Given the description of an element on the screen output the (x, y) to click on. 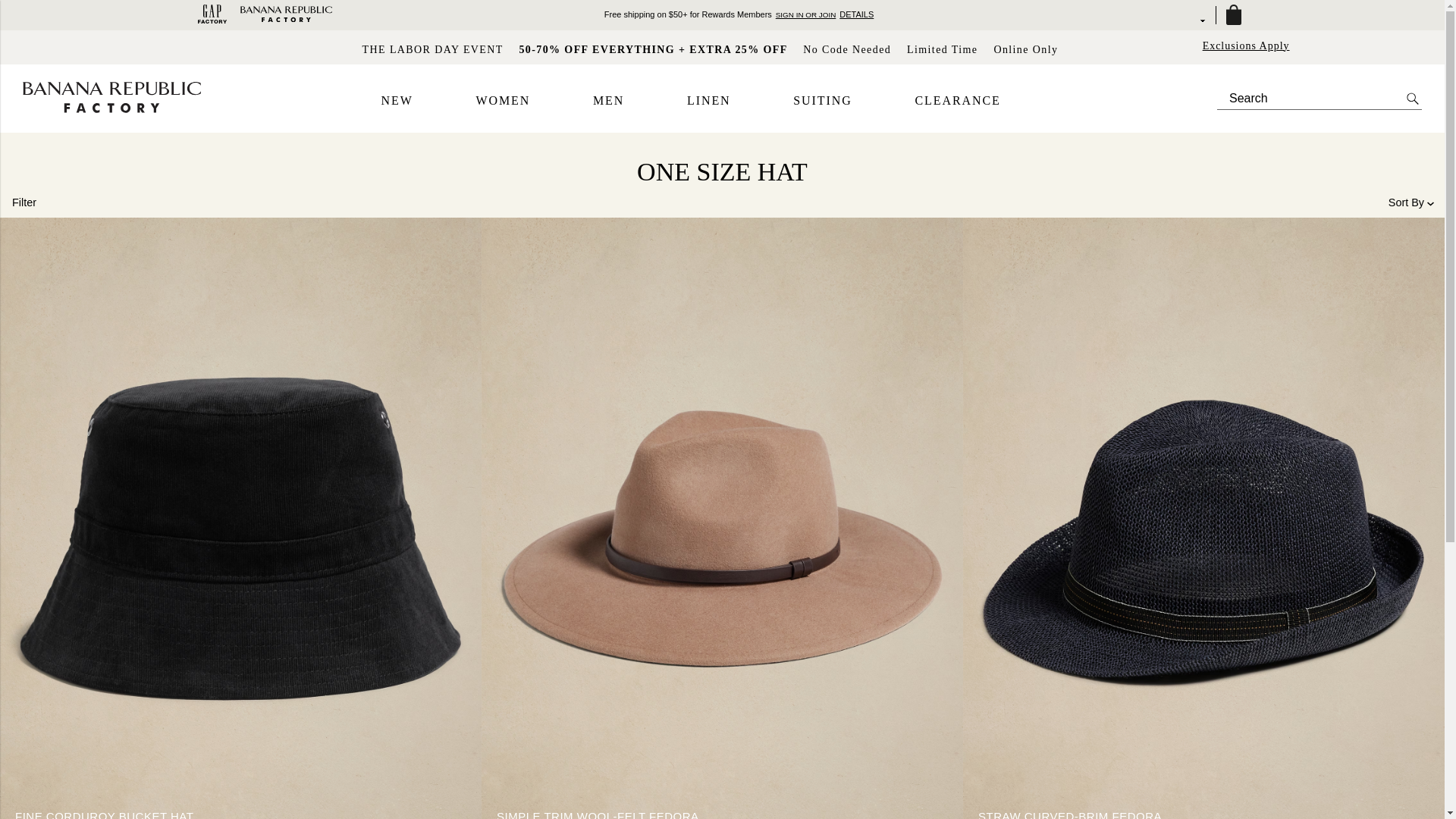
SUITING (822, 101)
MEN (608, 101)
CLEARANCE (957, 101)
NEW (396, 101)
DETAILS (856, 13)
Exclusions Apply (1246, 45)
LINEN (708, 101)
